Given the description of an element on the screen output the (x, y) to click on. 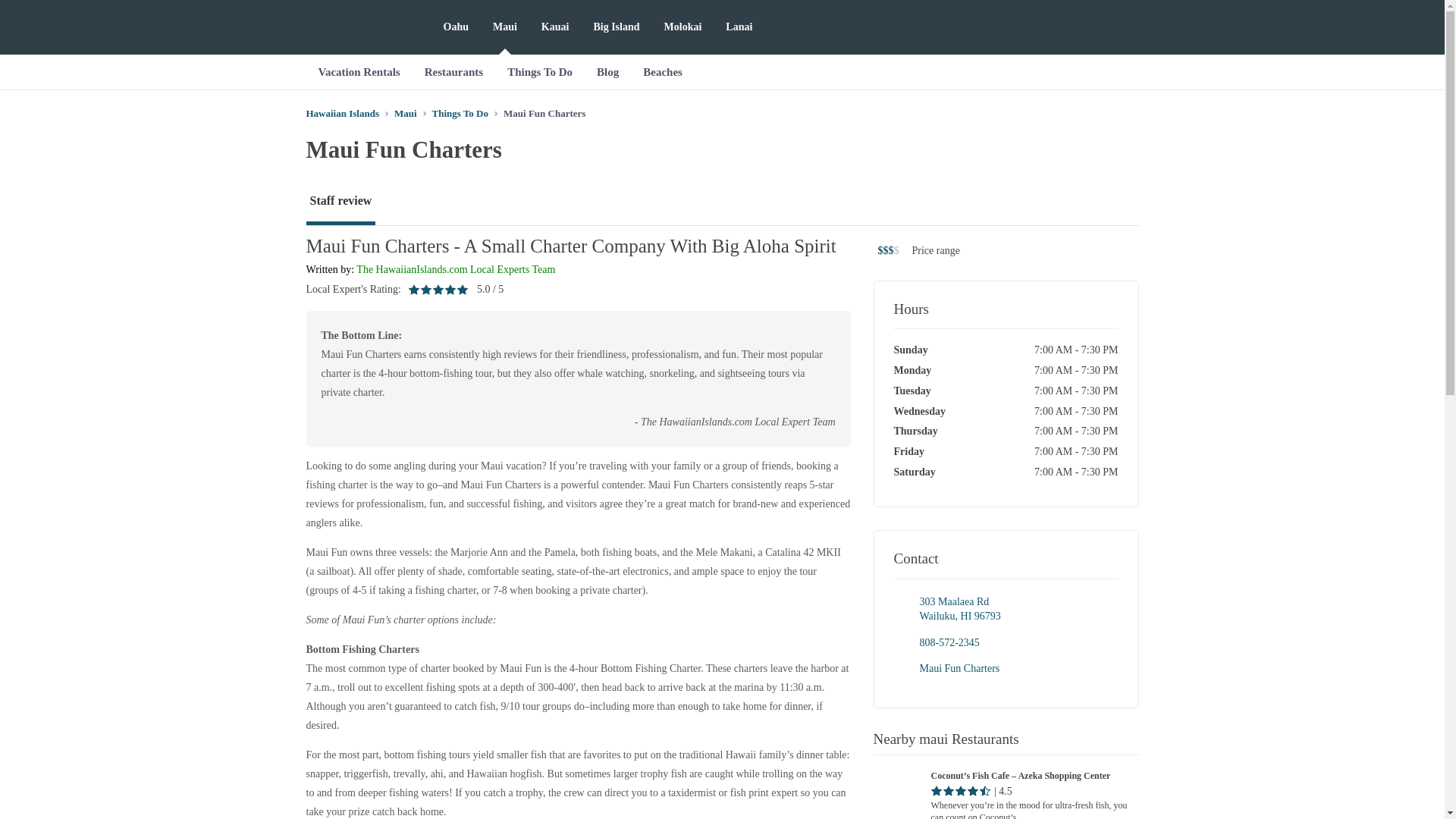
Hawaiian Islands (341, 112)
Things To Do (459, 112)
Beaches (662, 71)
Maui (959, 609)
Staff review (405, 112)
808-572-2345 (340, 202)
Maui Fun Charters (948, 642)
Vacation Rentals (958, 668)
The HawaiianIslands.com Local Experts Team (358, 71)
